Given the description of an element on the screen output the (x, y) to click on. 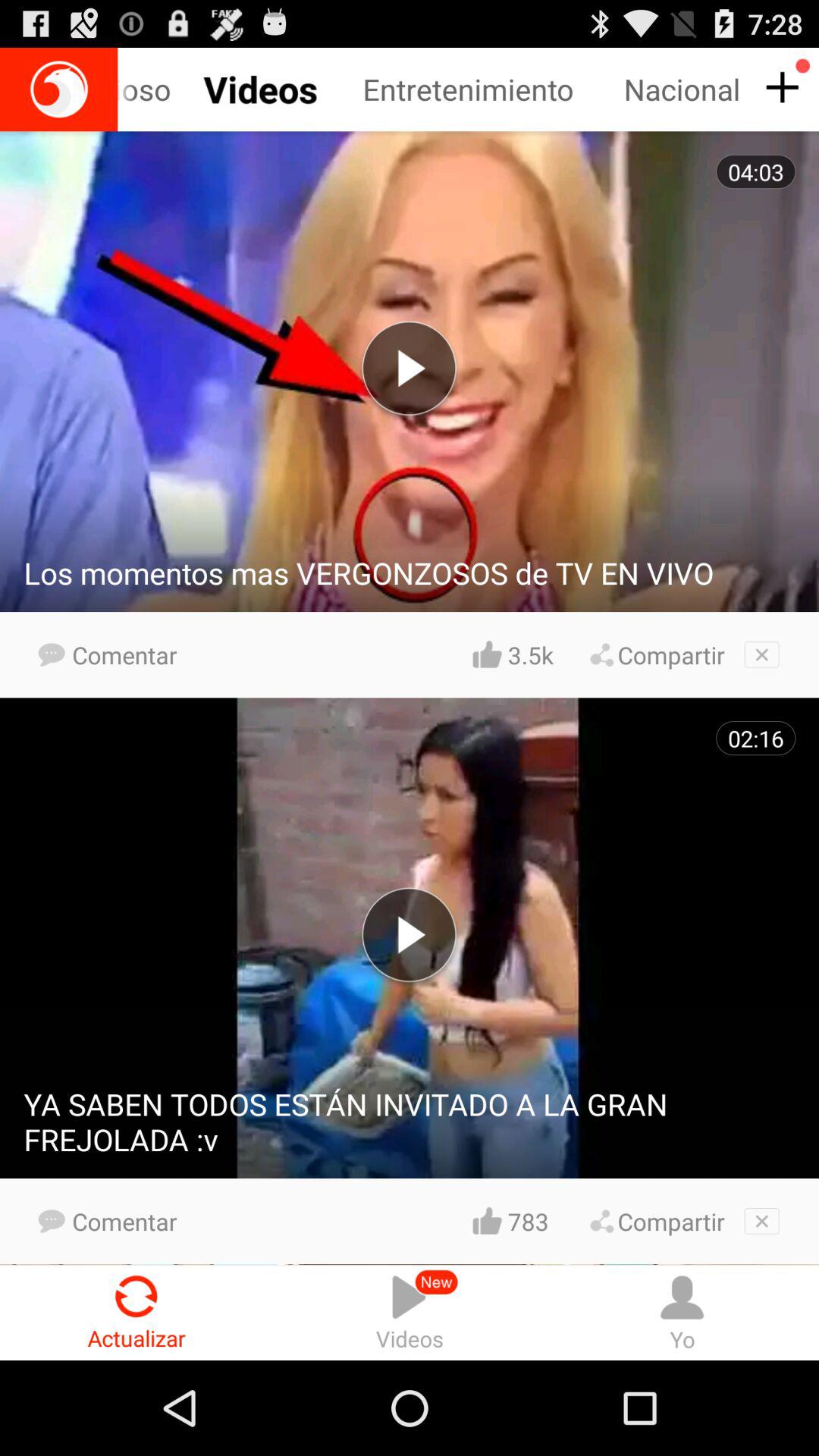
tap radio button next to the videos item (136, 1312)
